Given the description of an element on the screen output the (x, y) to click on. 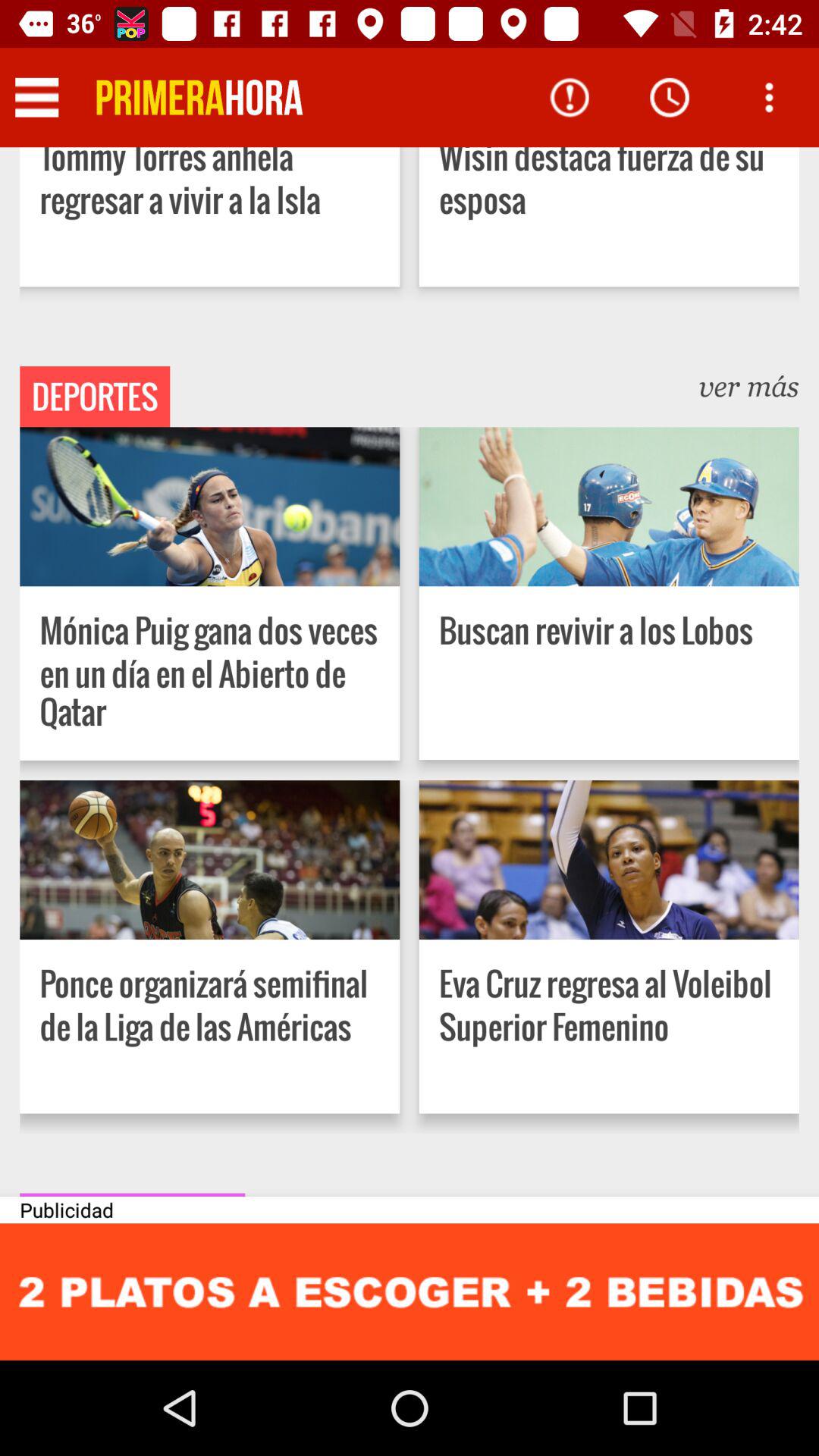
click the icon above the wisin destaca fuerza icon (769, 97)
